Given the description of an element on the screen output the (x, y) to click on. 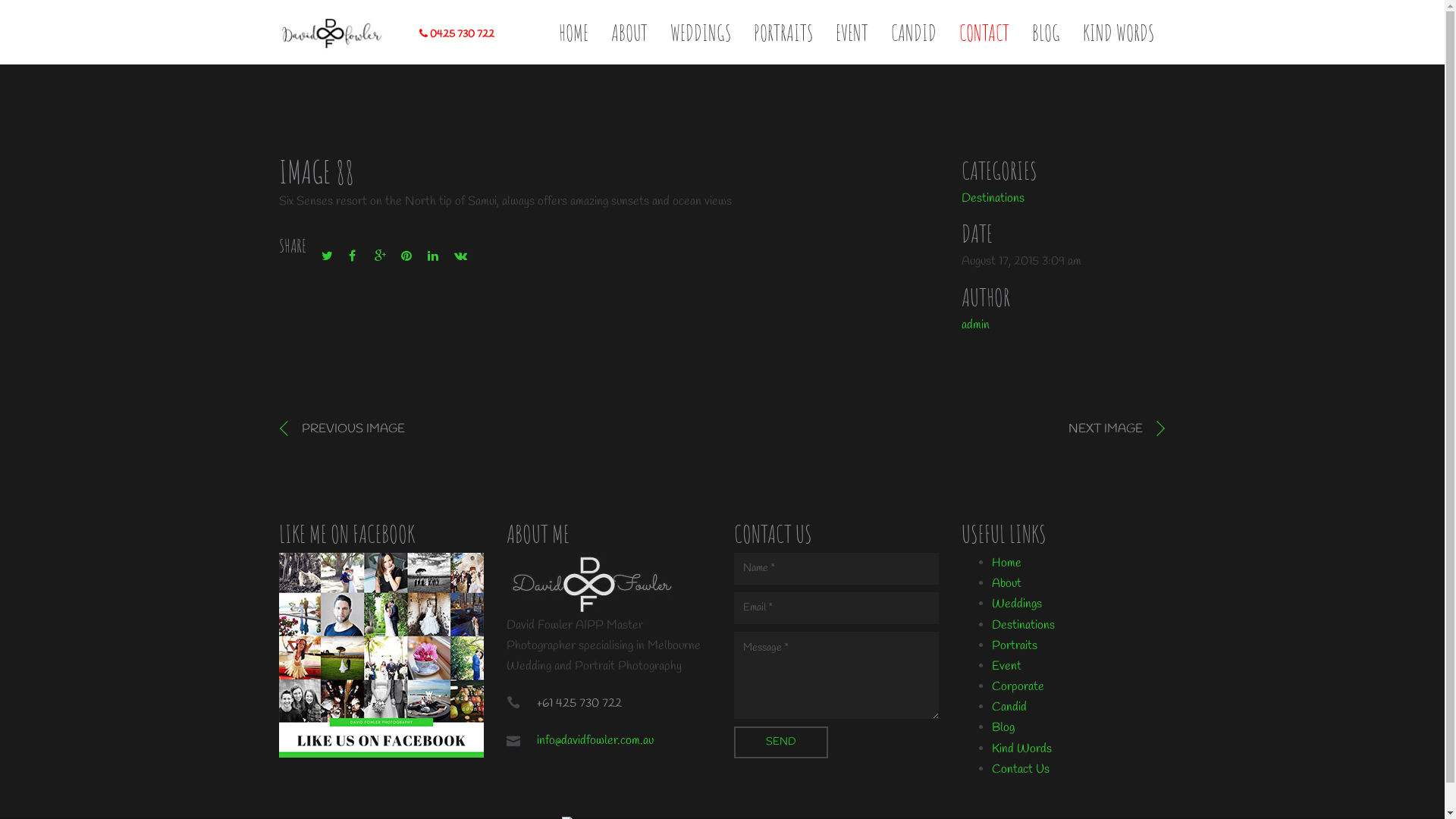
Destinations Element type: text (992, 198)
Weddings Element type: text (1016, 603)
Destinations Element type: text (1022, 625)
KIND WORDS Element type: text (1118, 33)
0425 730 722 Element type: text (455, 34)
admin Element type: text (975, 324)
PREVIOUS IMAGE Element type: text (341, 428)
Blog Element type: text (1002, 727)
Home Element type: text (1006, 563)
WEDDINGS Element type: text (700, 33)
Event Element type: text (1006, 666)
Contact Us Element type: text (1020, 769)
Corporate Element type: text (1017, 686)
CONTACT Element type: text (984, 33)
BLOG Element type: text (1046, 33)
NEXT IMAGE Element type: text (1116, 428)
Kind Words Element type: text (1021, 748)
PORTRAITS Element type: text (782, 33)
Portraits Element type: text (1014, 645)
CANDID Element type: text (913, 33)
EVENT Element type: text (851, 33)
Send Element type: text (781, 742)
ABOUT Element type: text (629, 33)
Candid Element type: text (1008, 707)
HOME Element type: text (573, 33)
About Element type: text (1006, 583)
info@davidfowler.com.au Element type: text (594, 740)
